Given the description of an element on the screen output the (x, y) to click on. 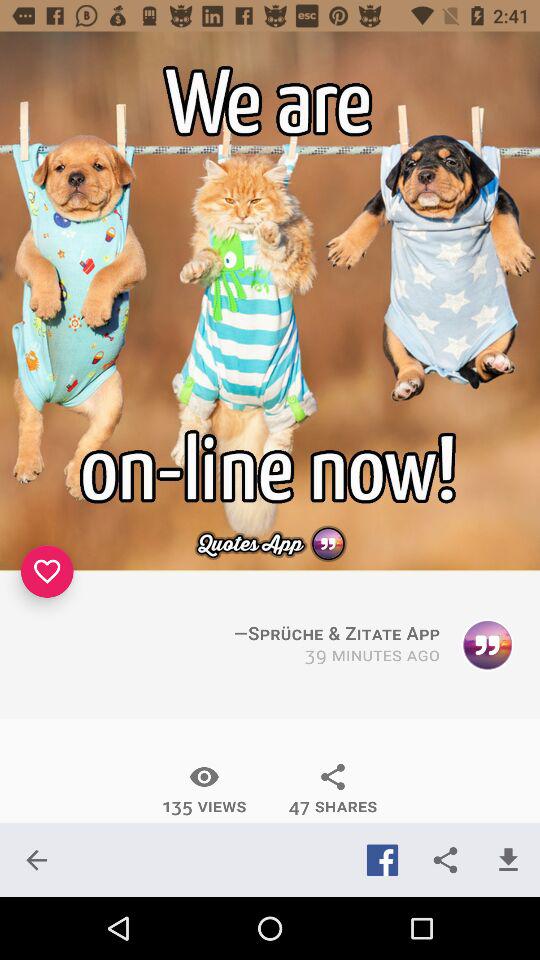
app online (270, 301)
